Given the description of an element on the screen output the (x, y) to click on. 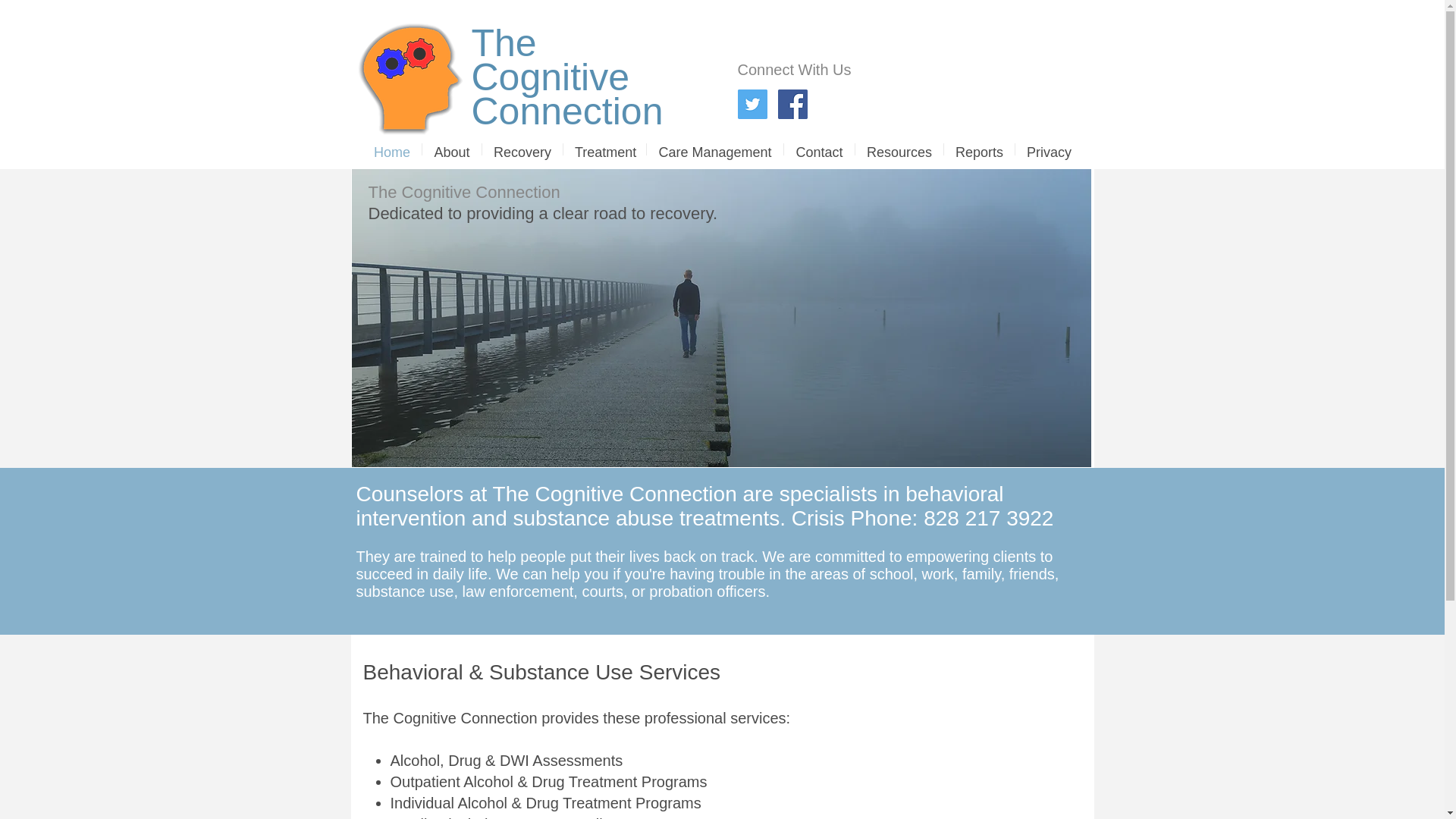
Recovery (549, 60)
Home (521, 149)
Privacy (392, 149)
Treatment (1048, 149)
Contact (604, 149)
About (819, 149)
Care Management (451, 149)
Resources (714, 149)
